Given the description of an element on the screen output the (x, y) to click on. 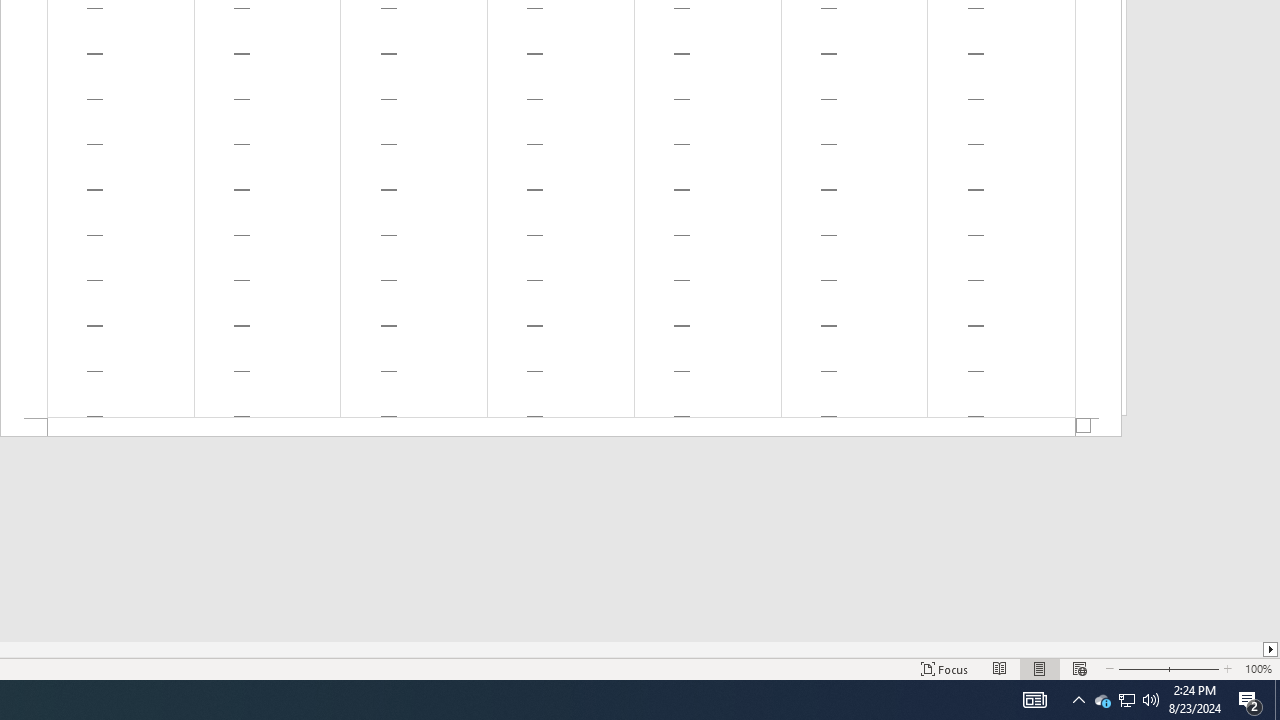
Column right (1271, 649)
